Given the description of an element on the screen output the (x, y) to click on. 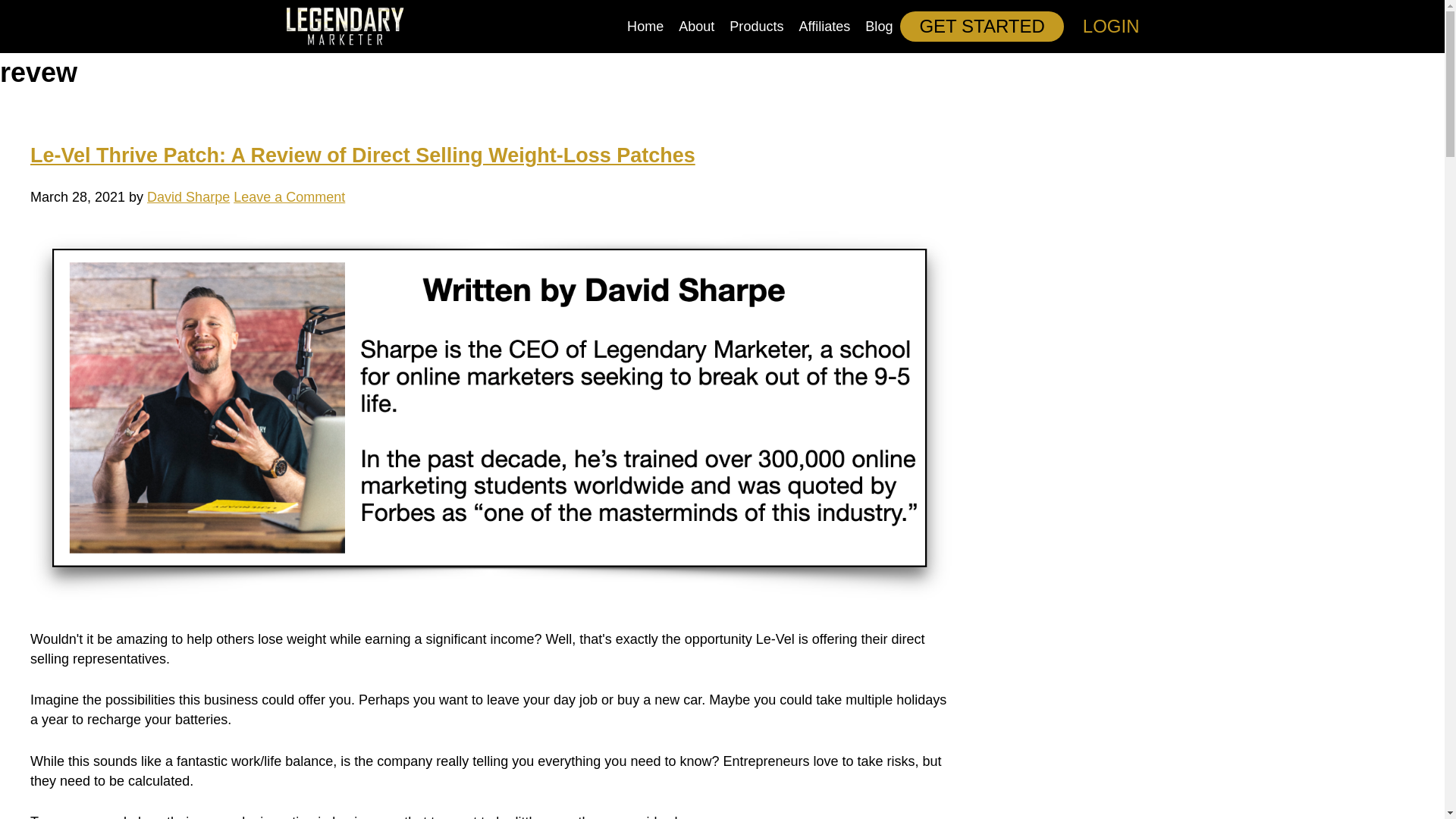
About (696, 26)
Home (645, 26)
Leave a Comment (288, 196)
David Sharpe (188, 196)
GET STARTED (980, 26)
Blog (878, 26)
Products (756, 26)
LOGIN (1111, 26)
Affiliates (825, 26)
